Given the description of an element on the screen output the (x, y) to click on. 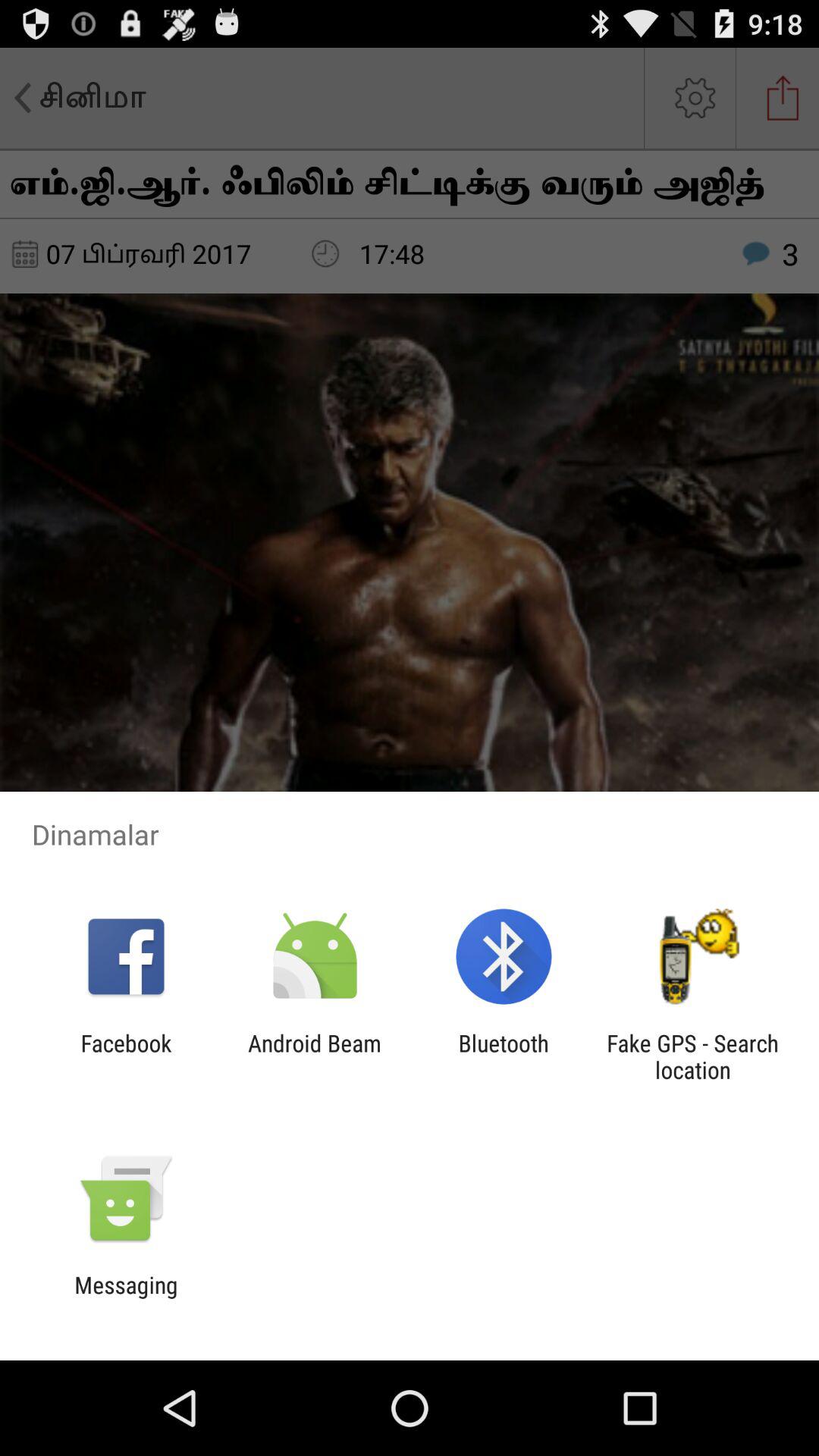
scroll until the messaging app (126, 1298)
